Given the description of an element on the screen output the (x, y) to click on. 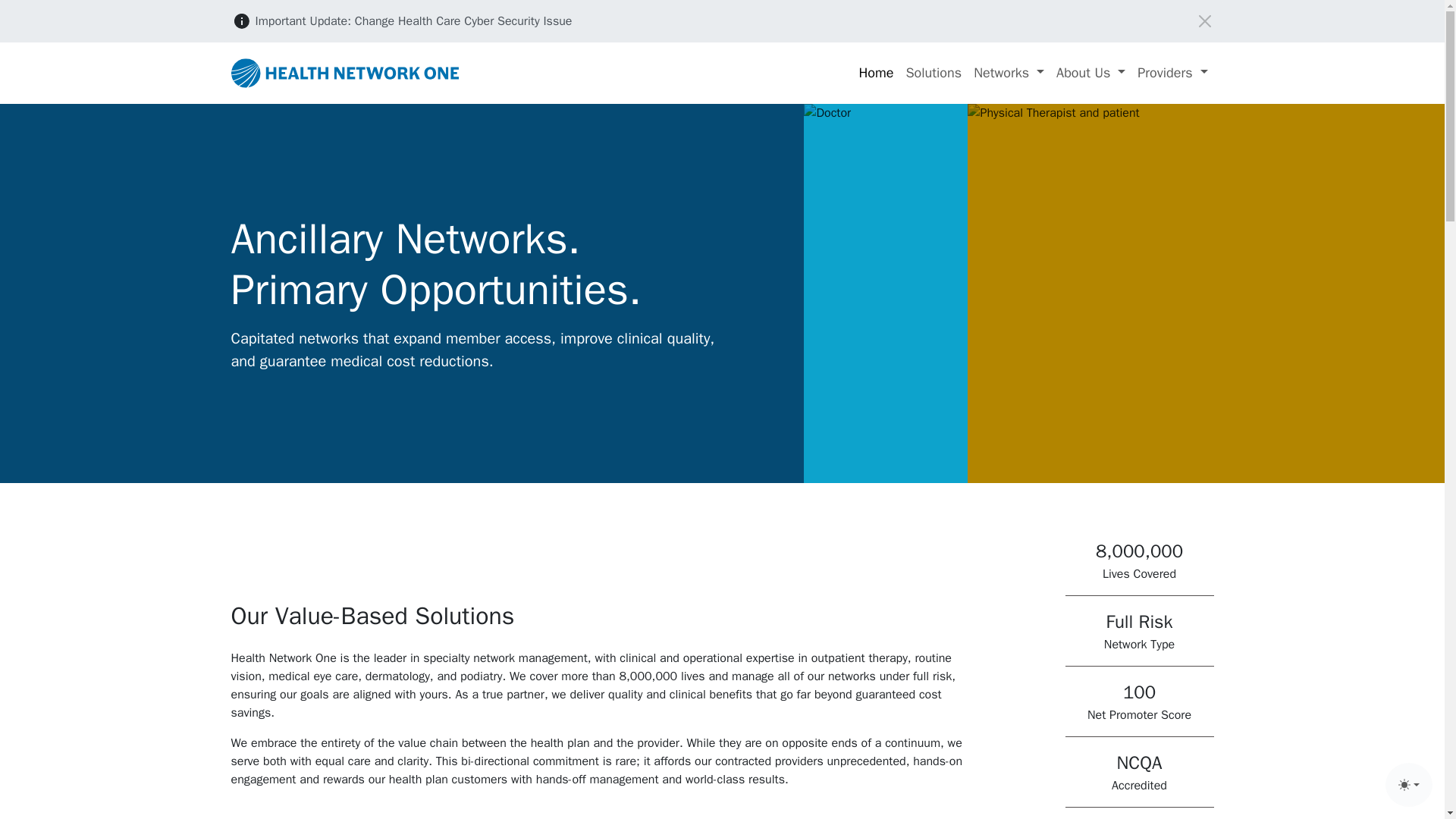
Providers (1171, 72)
Skip to main content (55, 9)
Toggle theme (1409, 784)
Solutions (933, 72)
Home (875, 72)
Networks (1008, 72)
Change Healthcare Cyber Security (413, 20)
Important Update: Change Health Care Cyber Security Issue (413, 20)
Skip to menu (34, 9)
Skip to footer (35, 9)
About Us (1090, 72)
